Given the description of an element on the screen output the (x, y) to click on. 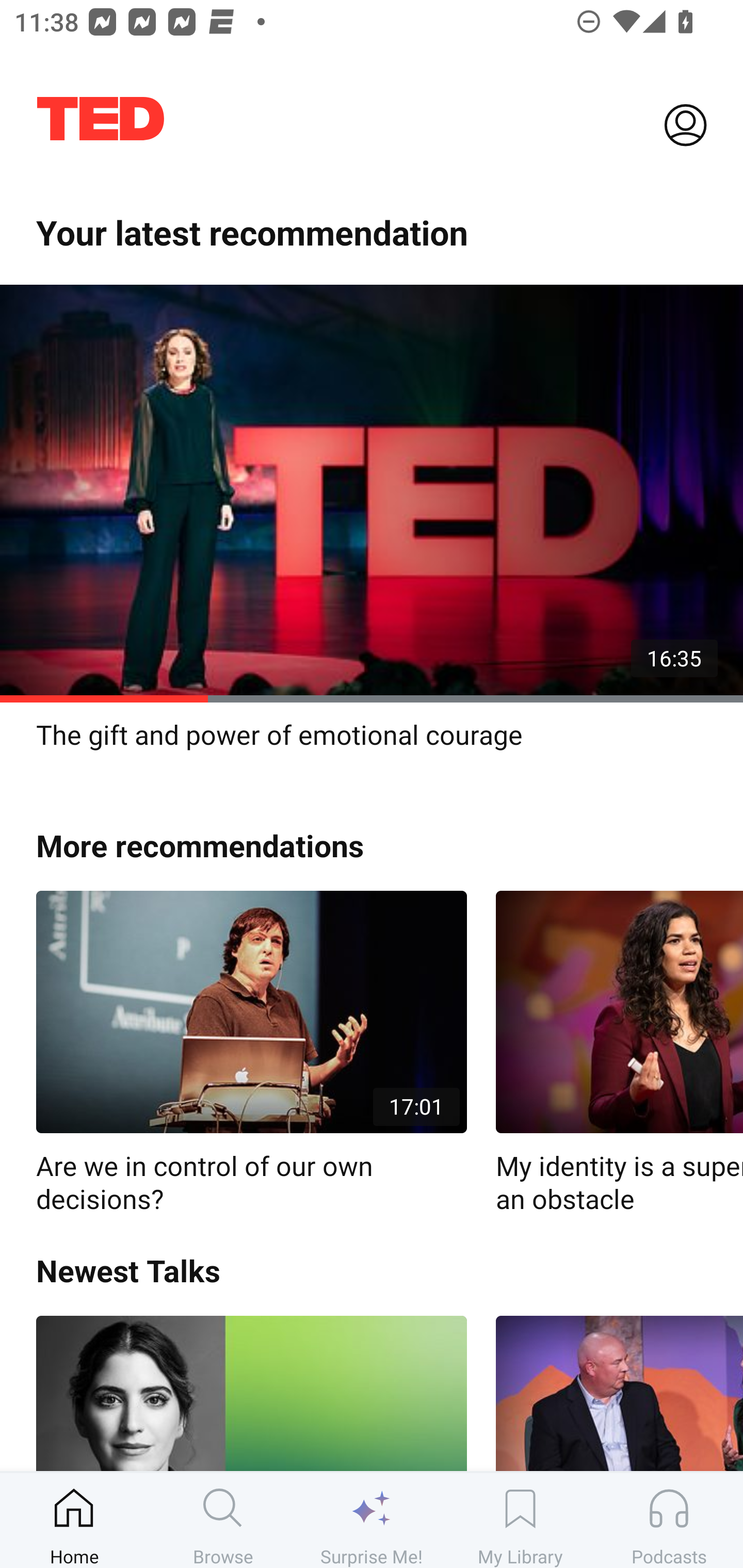
17:01 Are we in control of our own decisions? (251, 1053)
My identity is a superpower -- not an obstacle (619, 1053)
Home (74, 1520)
Browse (222, 1520)
Surprise Me! (371, 1520)
My Library (519, 1520)
Podcasts (668, 1520)
